Given the description of an element on the screen output the (x, y) to click on. 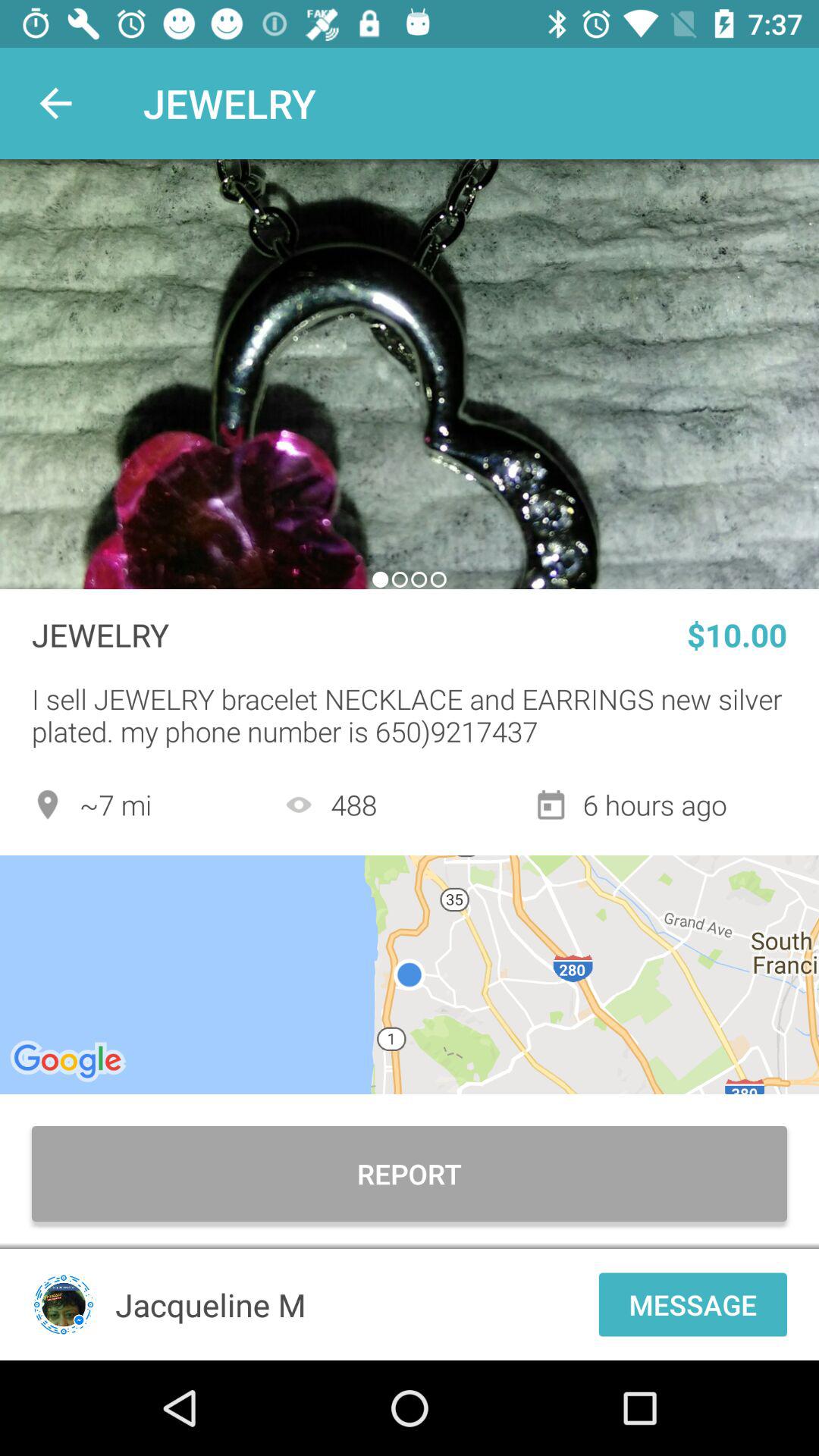
open the message icon (692, 1304)
